Given the description of an element on the screen output the (x, y) to click on. 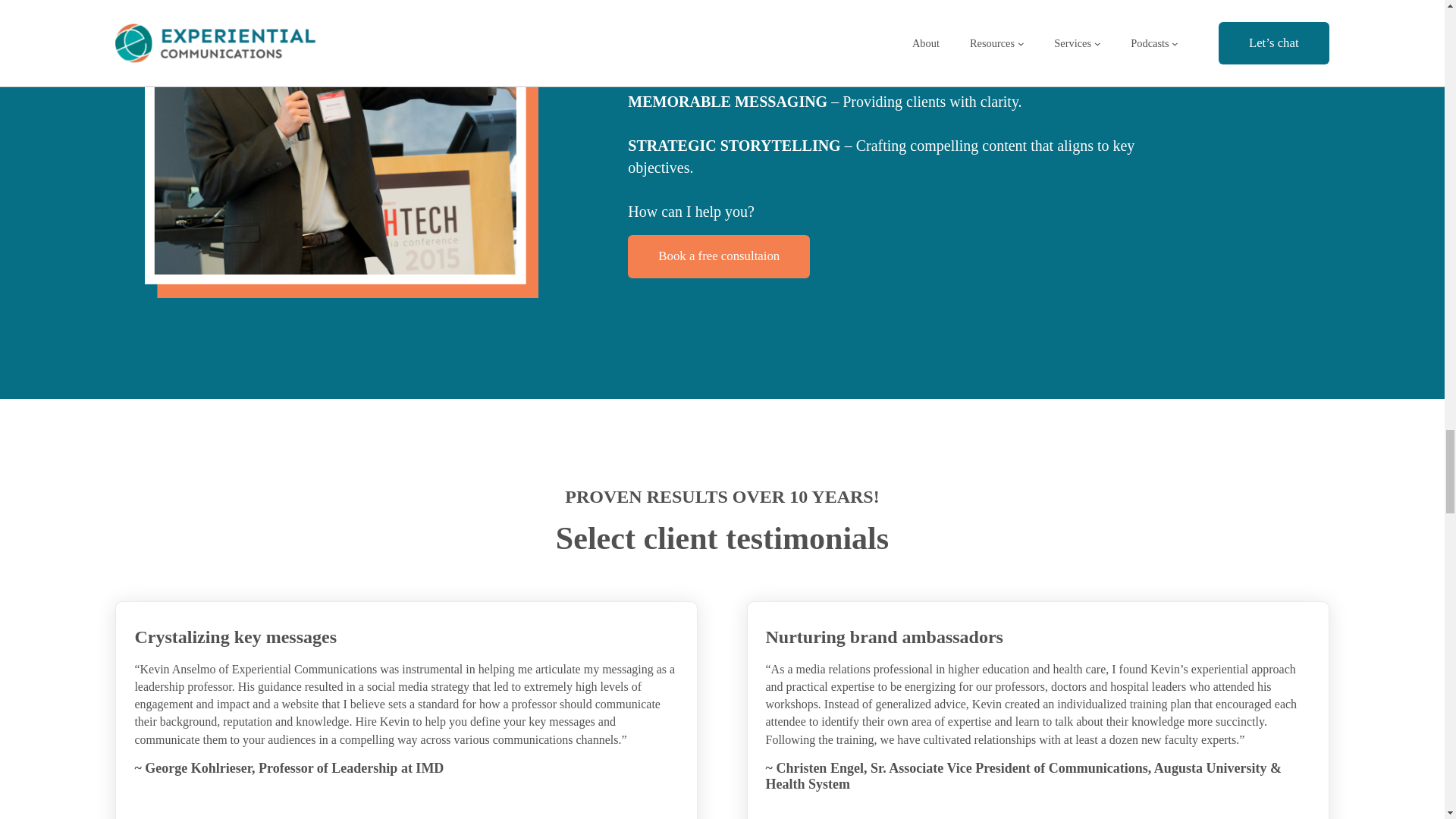
Book a free consultaion (718, 256)
